Given the description of an element on the screen output the (x, y) to click on. 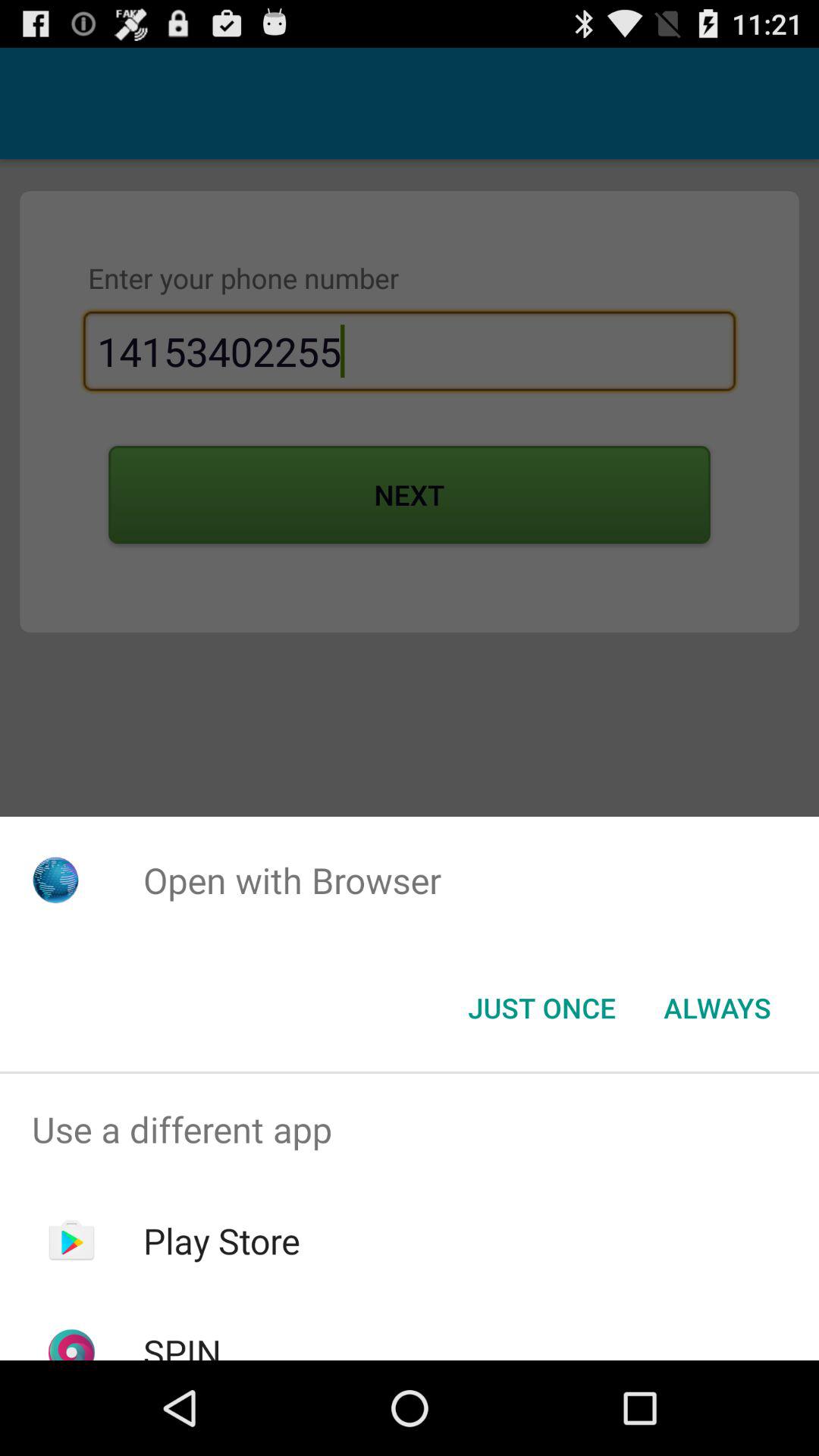
tap the button next to the always (541, 1007)
